Given the description of an element on the screen output the (x, y) to click on. 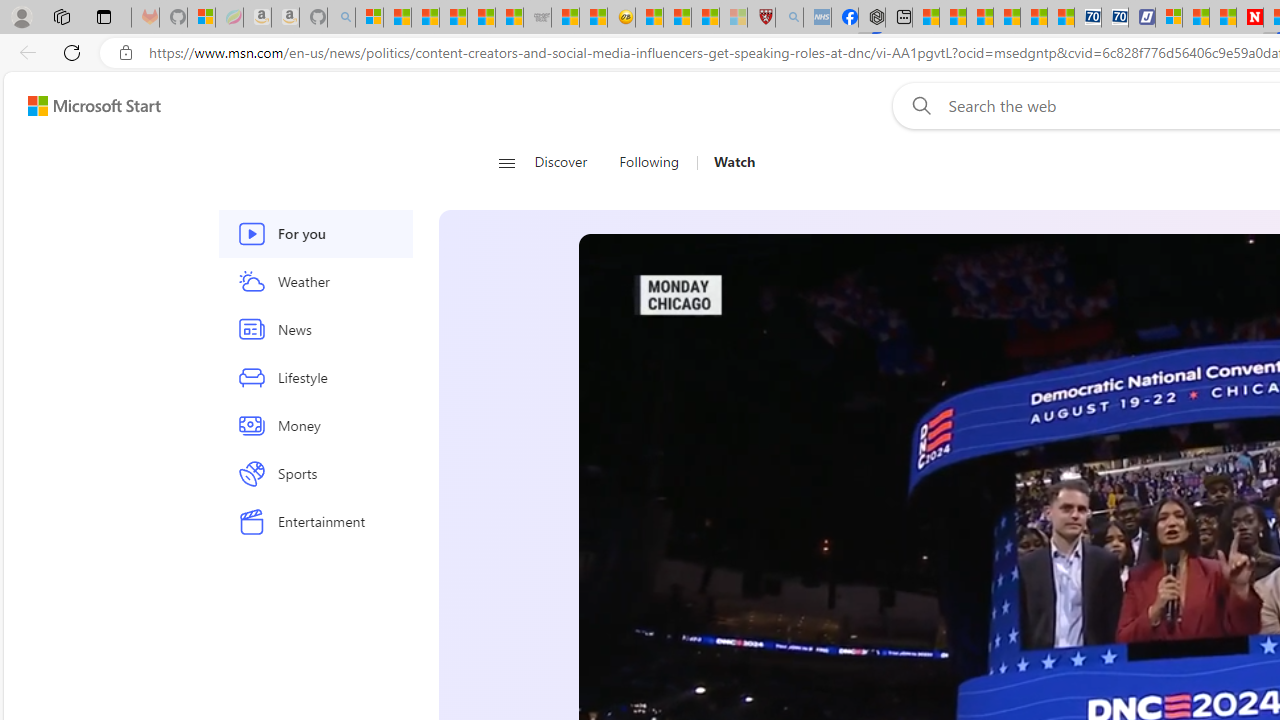
12 Popular Science Lies that Must be Corrected - Sleeping (733, 17)
